Given the description of an element on the screen output the (x, y) to click on. 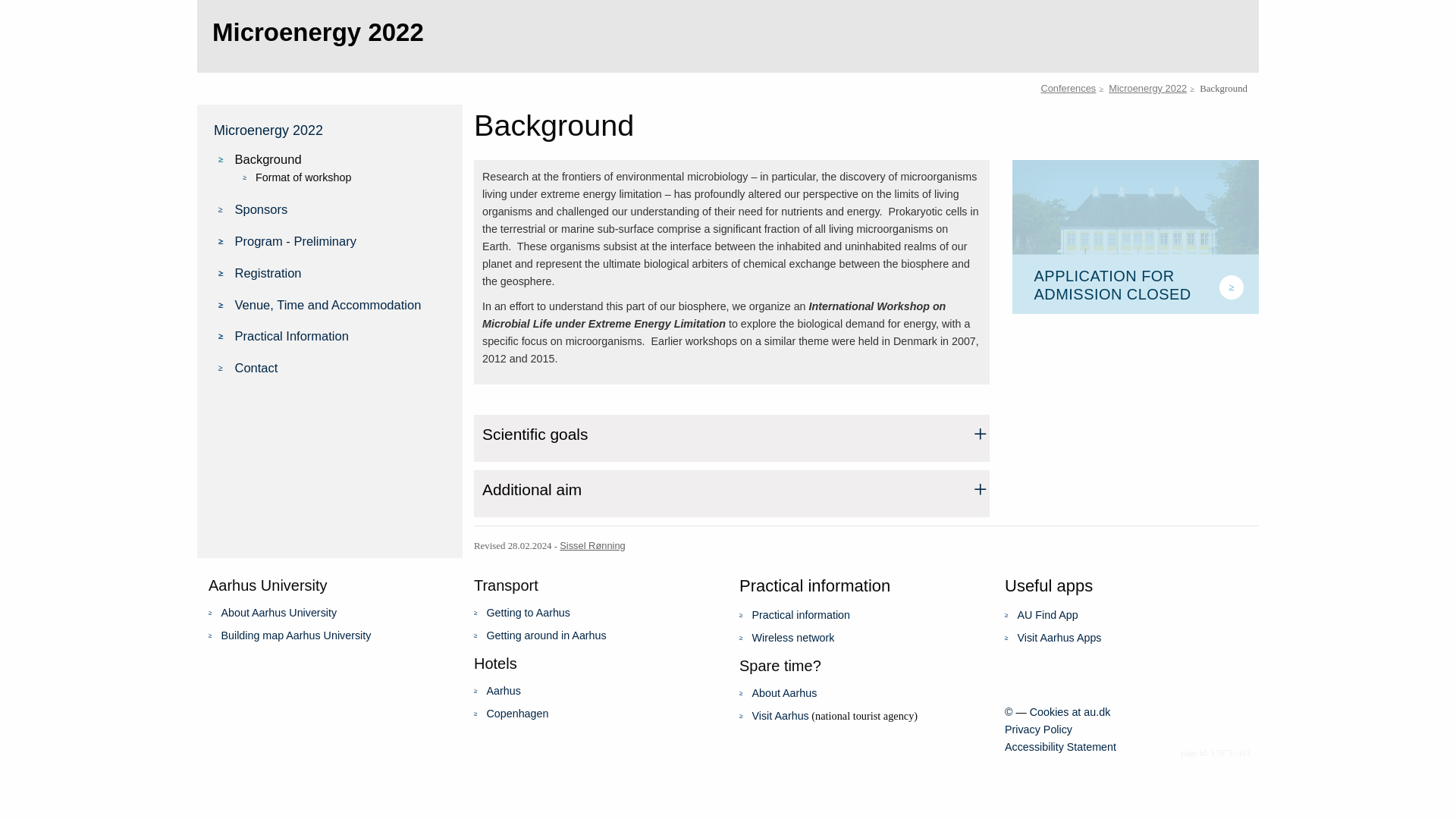
Visit Aarhus Apps (1059, 637)
Aarhus (503, 690)
Microenergy 2022 (1147, 88)
AU Find App (1047, 614)
Visit Aarhus (780, 715)
Venue, Time and Accommodation (340, 304)
Wireless network (793, 637)
APPLICATION FOR ADMISSION CLOSED (1135, 236)
Practical Information (340, 335)
Background (340, 158)
